Given the description of an element on the screen output the (x, y) to click on. 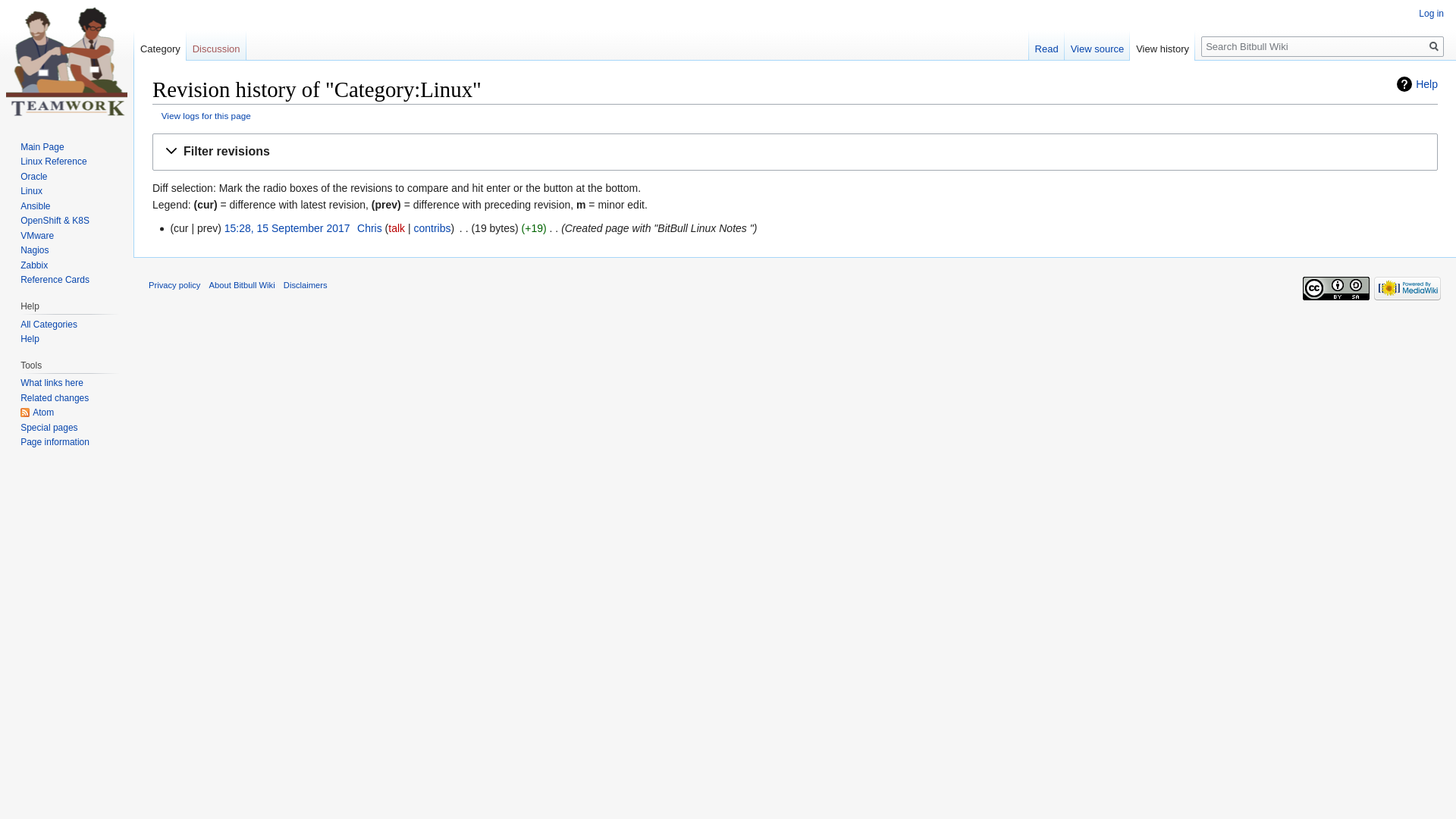
Category Element type: text (160, 45)
View logs for this page Element type: text (206, 115)
Go to a page with this exact name if it exists Element type: hover (1433, 46)
Main Page Element type: text (41, 146)
Special pages Element type: text (48, 427)
All Categories Element type: text (48, 324)
Go Element type: text (1433, 46)
Privacy policy Element type: text (174, 284)
View history Element type: text (1162, 45)
View source Element type: text (1097, 45)
Oracle Element type: text (33, 176)
15:28, 15 September 2017 Element type: text (287, 228)
Zabbix Element type: text (33, 265)
Related changes Element type: text (54, 397)
What links here Element type: text (51, 382)
contribs Element type: text (431, 228)
Linux Reference Element type: text (53, 161)
Page information Element type: text (54, 441)
Visit the main page Element type: hover (66, 60)
Linux Element type: text (31, 190)
talk Element type: text (396, 228)
Disclaimers Element type: text (305, 284)
Jump to navigation Element type: text (151, 132)
Nagios Element type: text (34, 249)
Atom Element type: text (36, 412)
Chris Element type: text (369, 228)
Read Element type: text (1046, 45)
OpenShift & K8S Element type: text (54, 220)
Help Element type: text (1416, 83)
Search Bitbull Wiki [alt-shift-f] Element type: hover (1322, 46)
Discussion Element type: text (216, 45)
About Bitbull Wiki Element type: text (242, 284)
VMware Element type: text (36, 235)
Ansible Element type: text (35, 205)
Help Element type: text (29, 338)
Reference Cards Element type: text (54, 279)
Log in Element type: text (1430, 13)
